Given the description of an element on the screen output the (x, y) to click on. 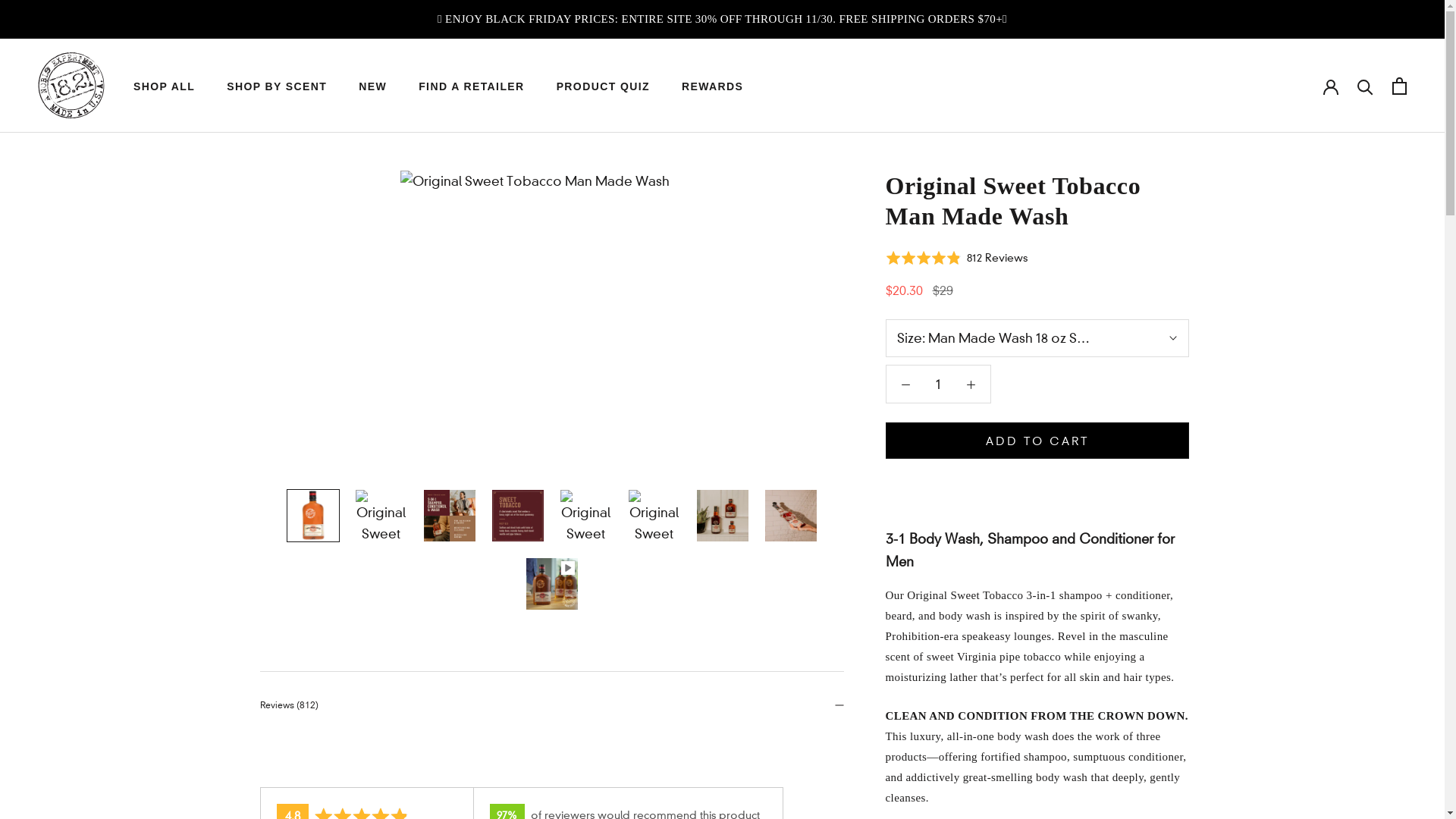
SHOP BY SCENT Element type: text (276, 86)
PRODUCT QUIZ
PRODUCT QUIZ Element type: text (602, 86)
Size: Man Made Wash 18 oz Sweet Tobacco Element type: text (1037, 338)
ADD TO CART Element type: text (1037, 440)
SHOP ALL Element type: text (163, 86)
FIND A RETAILER
FIND A RETAILER Element type: text (471, 86)
REWARDS
REWARDS Element type: text (712, 86)
NEW
NEW Element type: text (372, 86)
Reviews (812) Element type: text (551, 704)
